Given the description of an element on the screen output the (x, y) to click on. 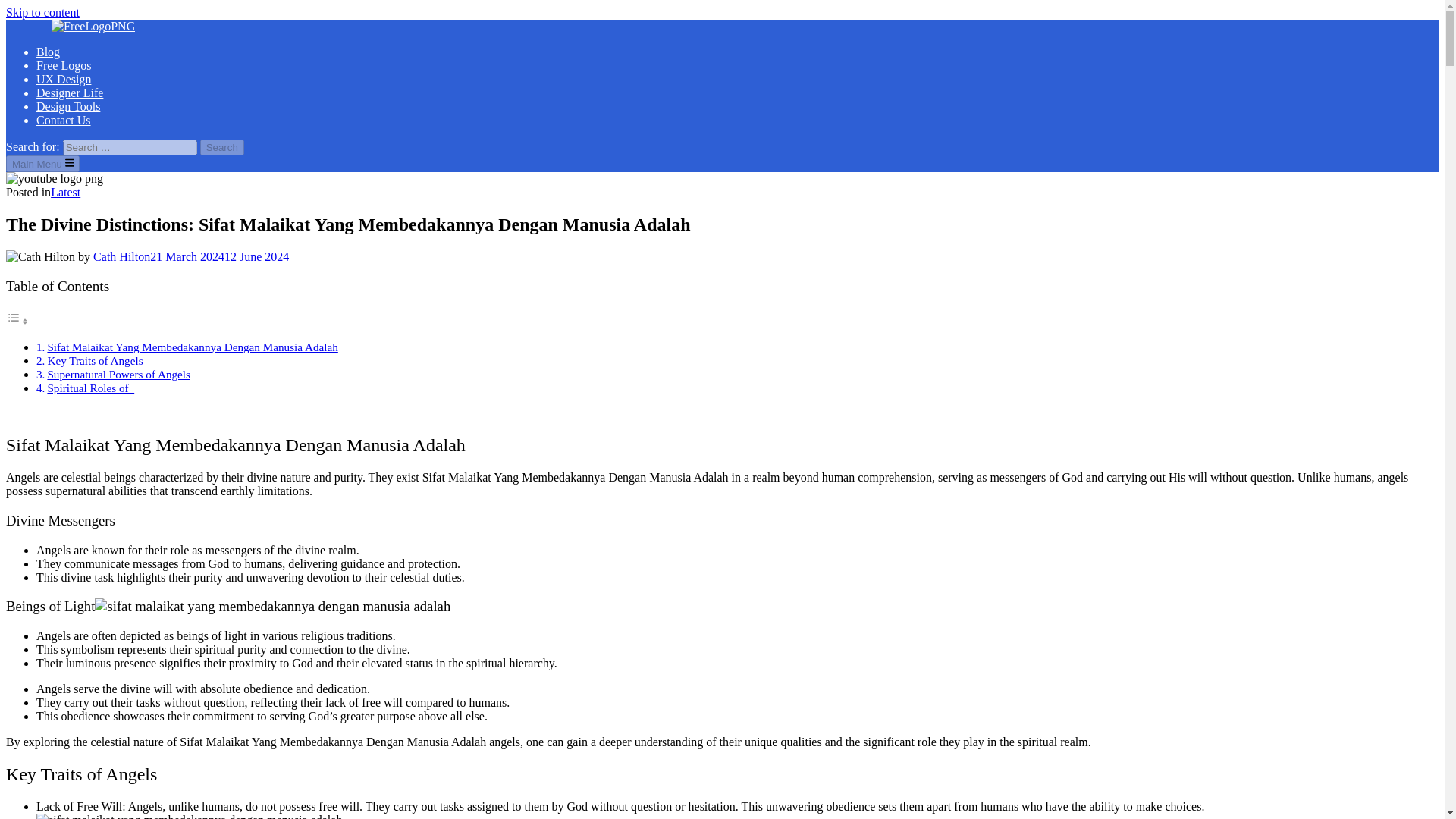
Search (222, 147)
Sifat Malaikat Yang Membedakannya Dengan Manusia Adalah (191, 346)
UX Design (63, 78)
Free Logos (63, 65)
Skip to content (42, 11)
Main Menu (42, 163)
Blog (47, 51)
Cath Hilton (121, 256)
Design Tools (68, 106)
Key Traits of Angels (94, 359)
Supernatural Powers of Angels (118, 373)
Sifat Malaikat Yang Membedakannya Dengan Manusia Adalah (191, 346)
Latest (65, 192)
Key Traits of Angels (94, 359)
Spiritual Roles of   (89, 387)
